Given the description of an element on the screen output the (x, y) to click on. 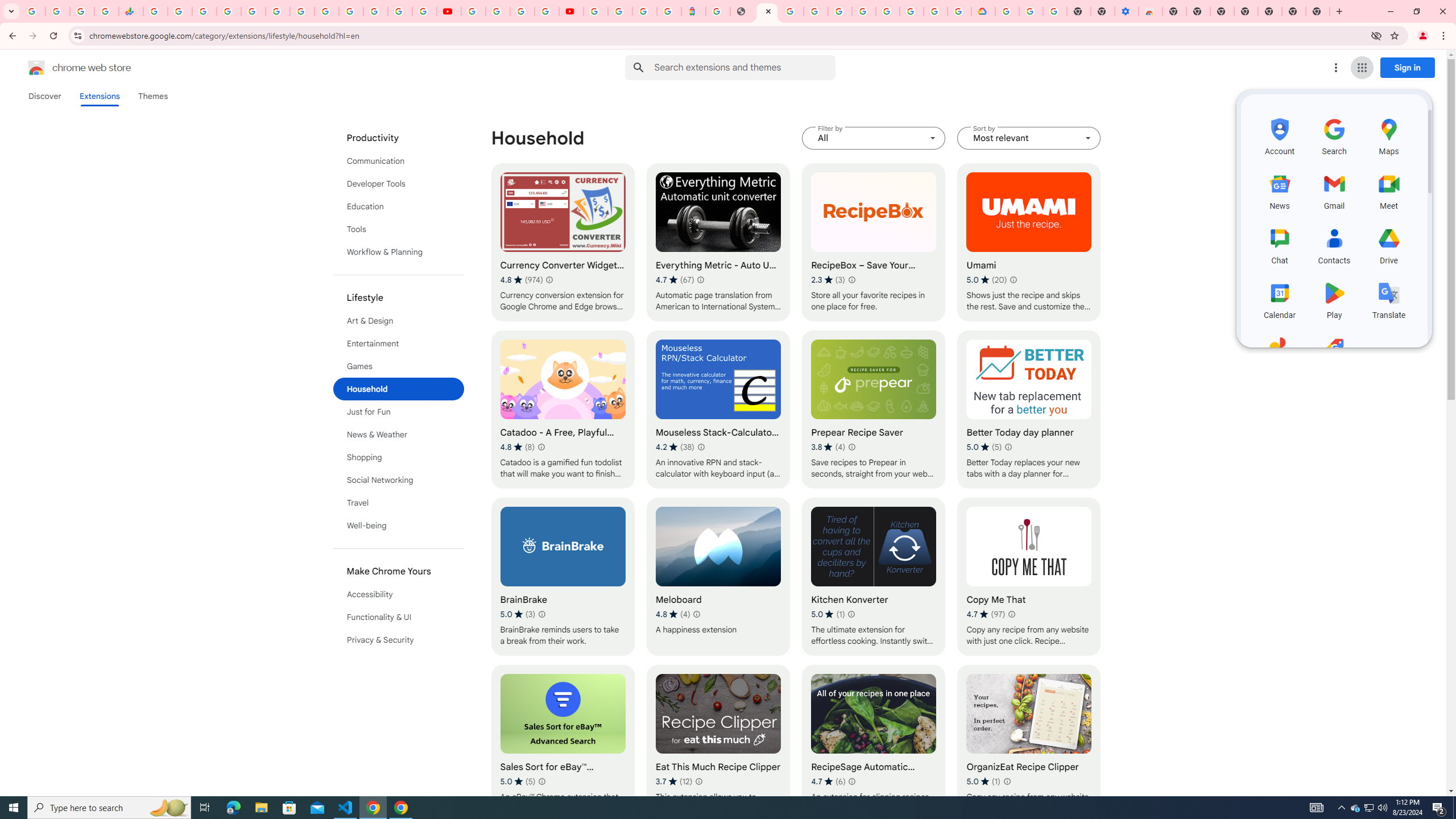
Average rating 5 out of 5 stars. 3 ratings. (517, 613)
Atour Hotel - Google hotels (692, 11)
News & Weather (398, 434)
Sign in - Google Accounts (595, 11)
Sort by Most relevant (1028, 137)
Sign in - Google Accounts (935, 11)
Prepear Recipe Saver (874, 409)
